Given the description of an element on the screen output the (x, y) to click on. 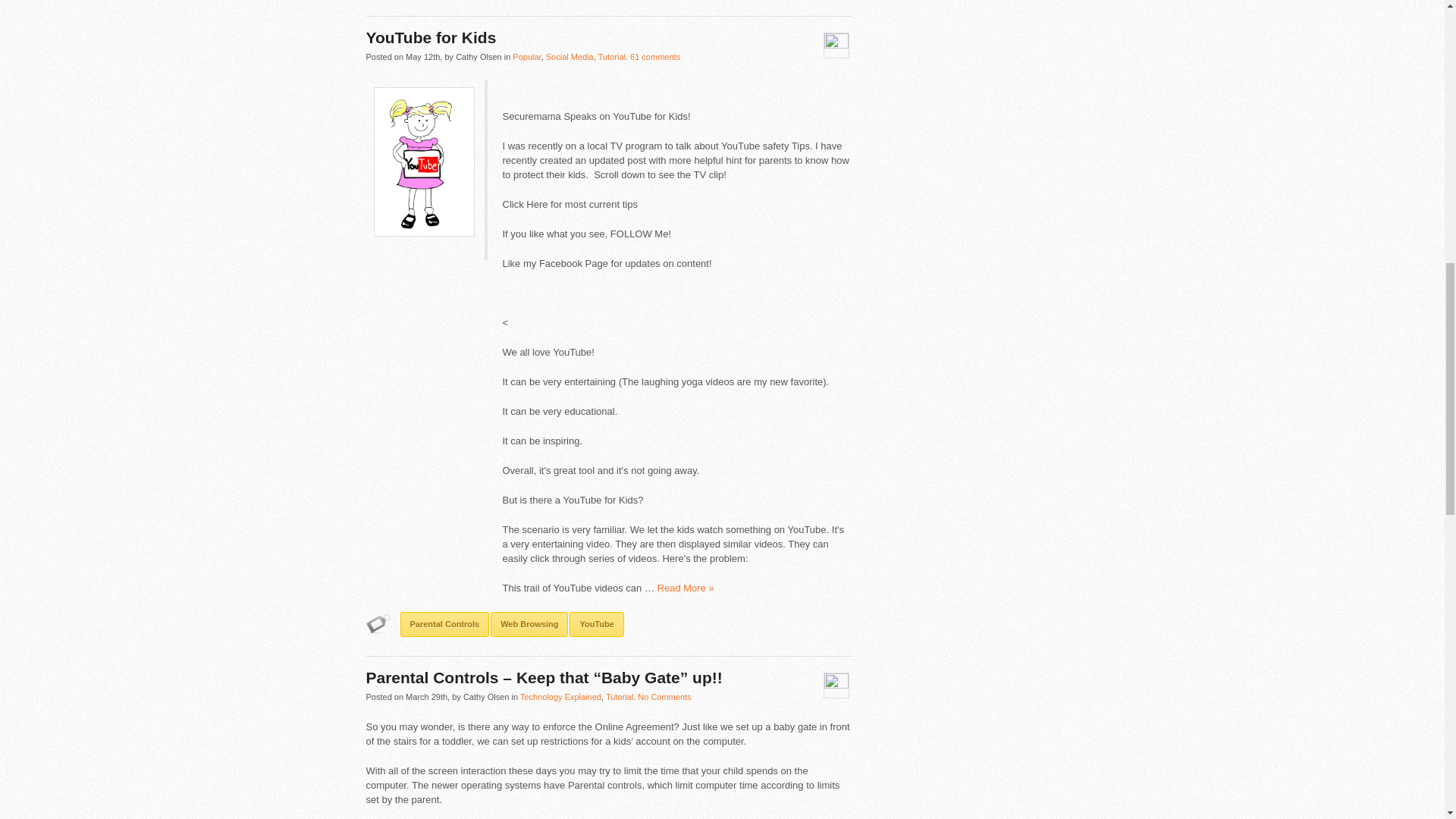
View all posts in Popular (526, 56)
